Given the description of an element on the screen output the (x, y) to click on. 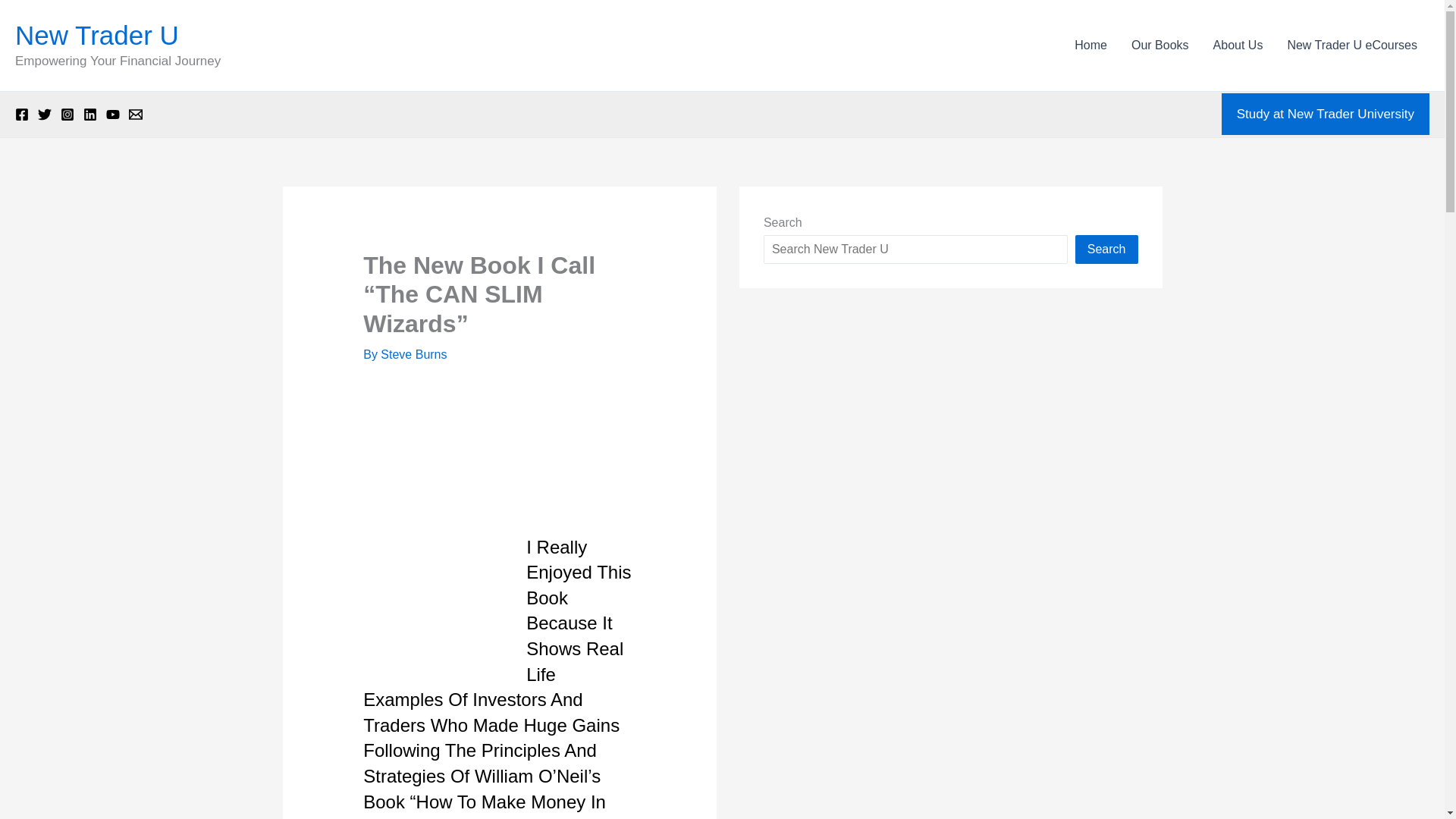
Our Books (1160, 45)
New Trader U (96, 34)
View all posts by Steve Burns (413, 354)
Home (1090, 45)
Search (1106, 249)
About Us (1238, 45)
New Trader U eCourses (1352, 45)
The New Book I Call "The CAN SLIM Wizards" 2 (435, 419)
Study at New Trader University (1325, 114)
canslimwizards (430, 602)
Steve Burns (413, 354)
